Given the description of an element on the screen output the (x, y) to click on. 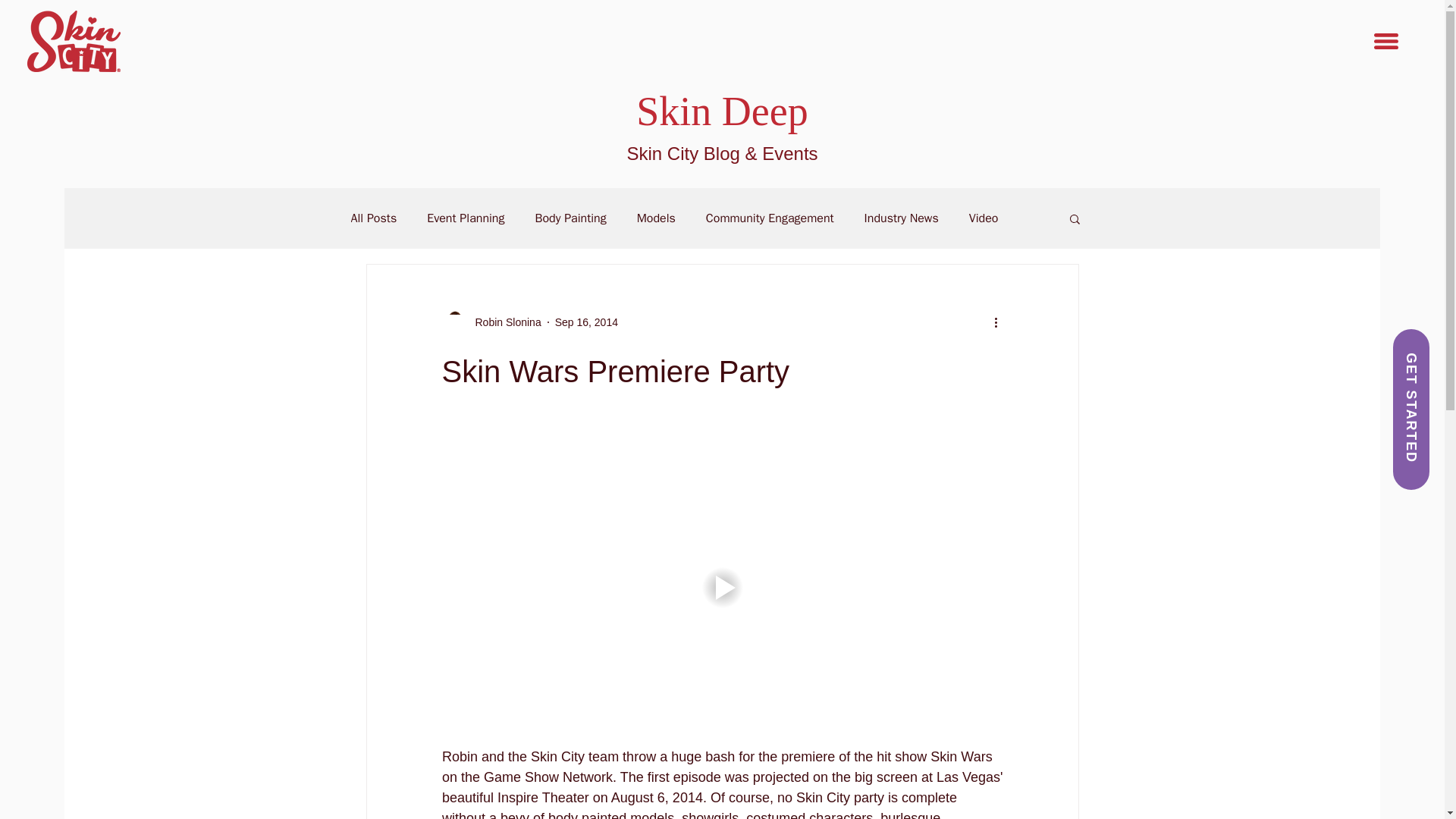
Robin Slonina (490, 322)
All Posts (373, 218)
Video (983, 218)
Industry News (901, 218)
Body Painting (569, 218)
Robin Slonina (502, 322)
Event Planning (464, 218)
Sep 16, 2014 (585, 322)
Skin Deep (722, 111)
Community Engagement (770, 218)
